Given the description of an element on the screen output the (x, y) to click on. 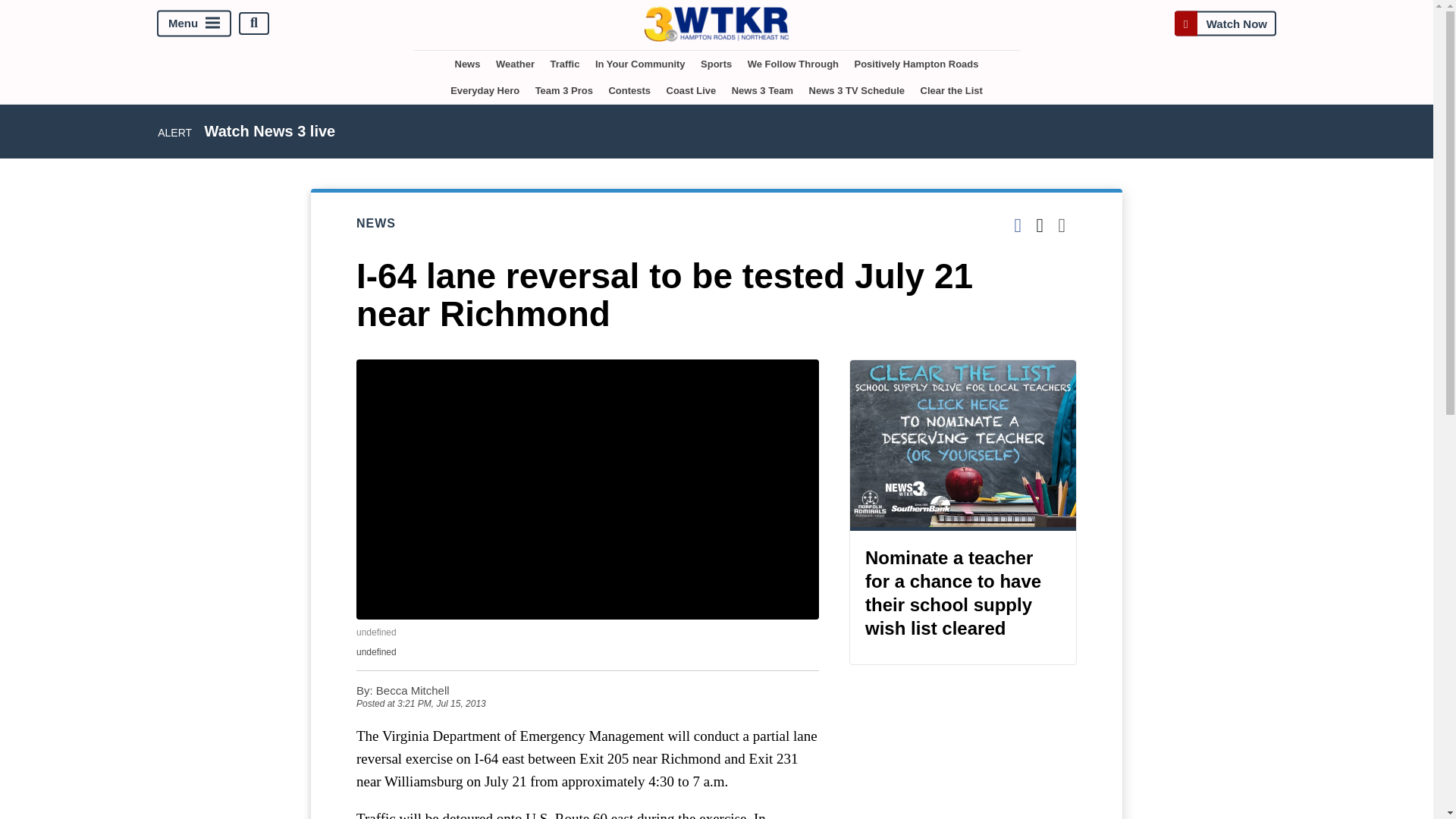
Watch Now (1224, 22)
Menu (194, 22)
